Given the description of an element on the screen output the (x, y) to click on. 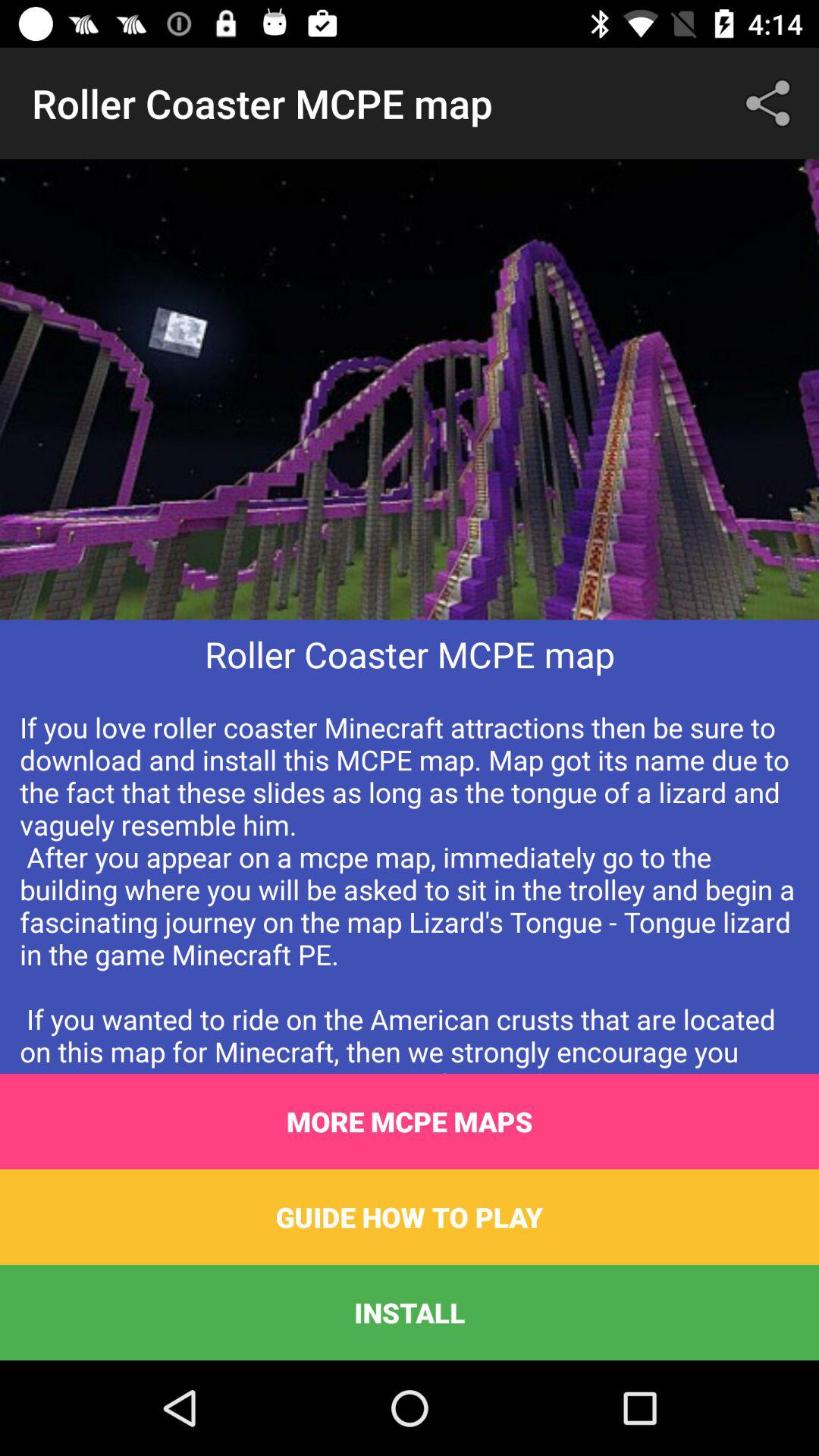
tap item above the guide how to item (409, 1121)
